Given the description of an element on the screen output the (x, y) to click on. 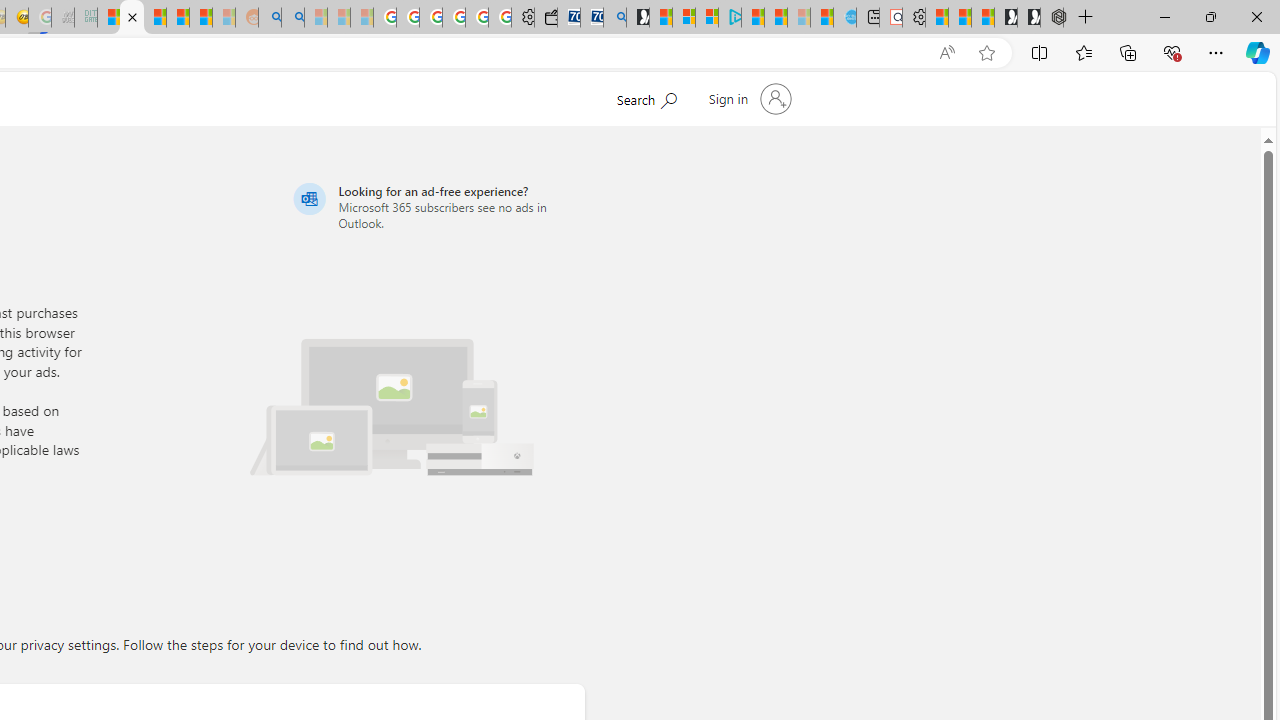
Bing Real Estate - Home sales and rental listings (614, 17)
